Given the description of an element on the screen output the (x, y) to click on. 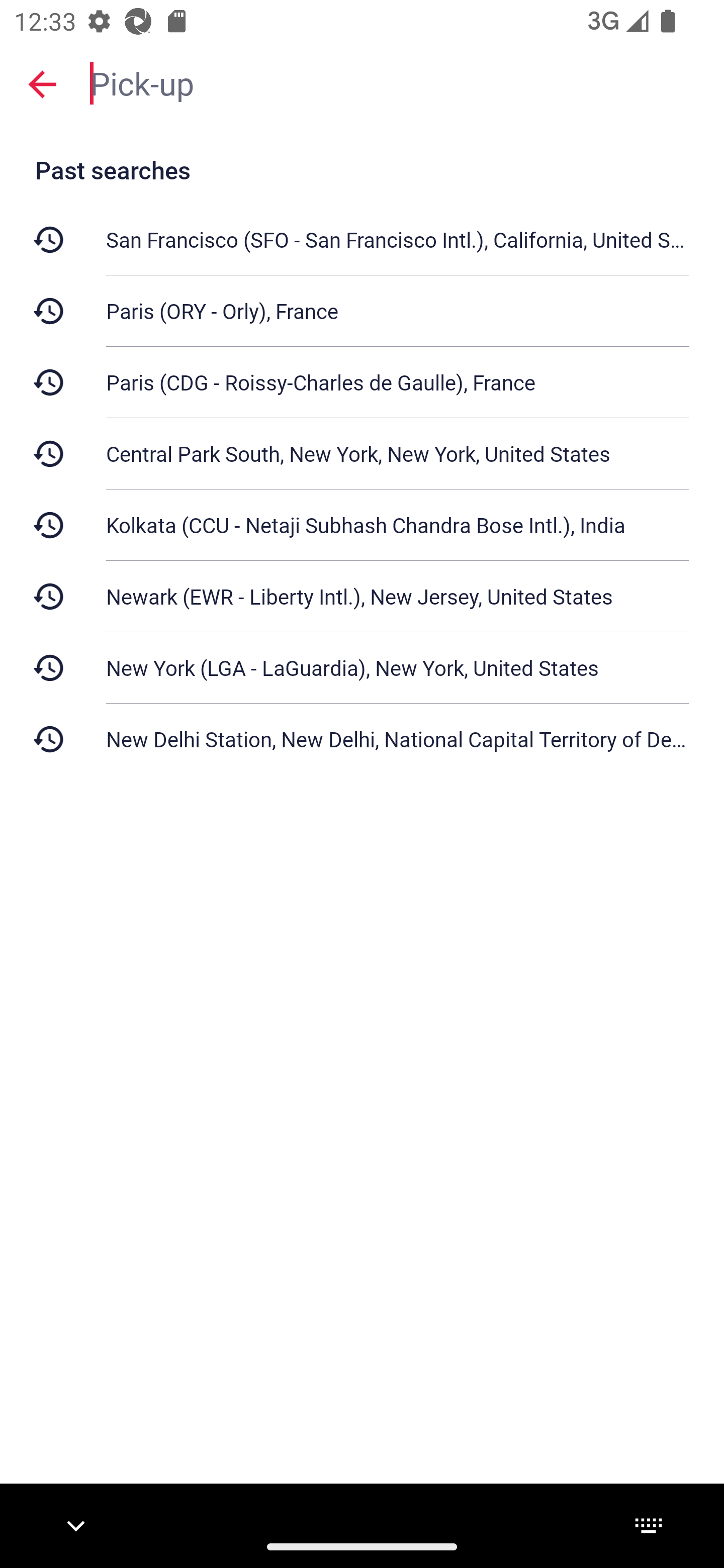
Close search screen (42, 84)
Pick-up,  (397, 82)
